Given the description of an element on the screen output the (x, y) to click on. 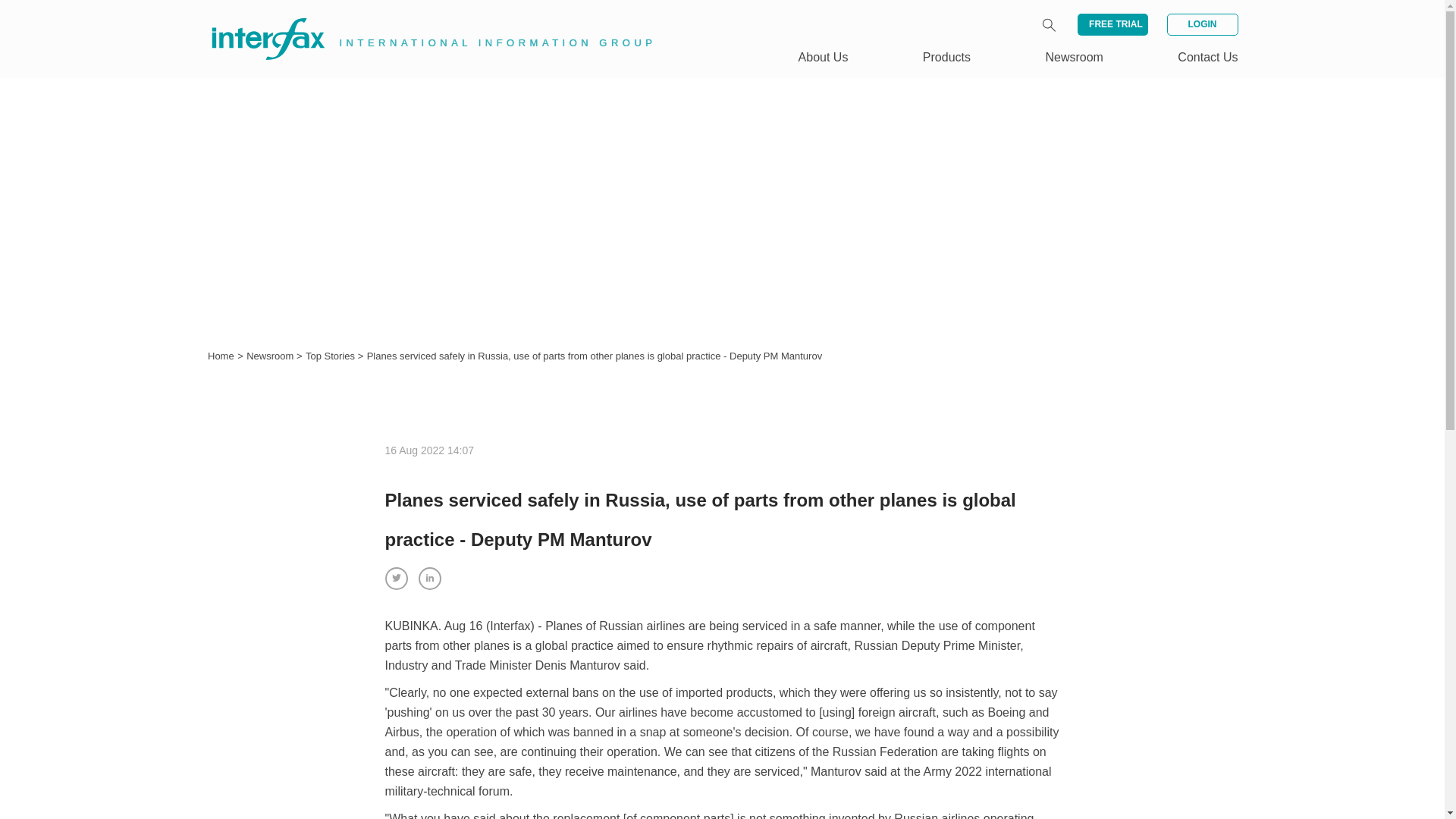
About Us (822, 56)
Newsroom (1073, 56)
Home (221, 355)
FREE TRIAL (1112, 24)
LOGIN (1201, 24)
Top Stories (331, 355)
Contact Us (1207, 56)
Contact Us (1207, 56)
Newsroom (271, 355)
Products (947, 56)
INTERNATIONAL INFORMATION GROUP (421, 20)
Newsroom (271, 355)
